Given the description of an element on the screen output the (x, y) to click on. 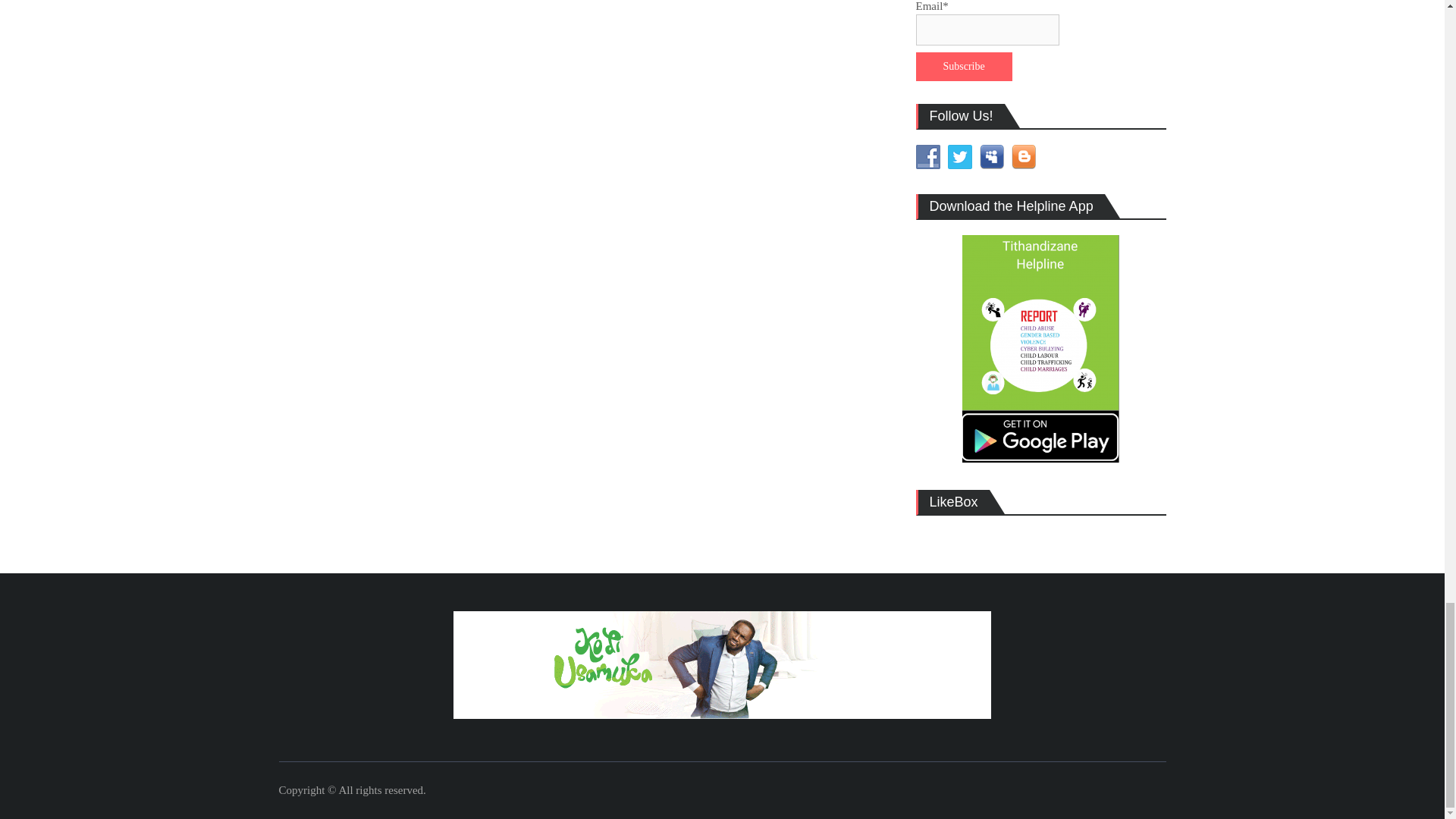
Follow Us on MySpace (991, 156)
Follow Us on Blogger (1023, 156)
Subscribe (963, 66)
Follow Us on Facebook (927, 156)
Follow Us on Twitter (959, 156)
